Given the description of an element on the screen output the (x, y) to click on. 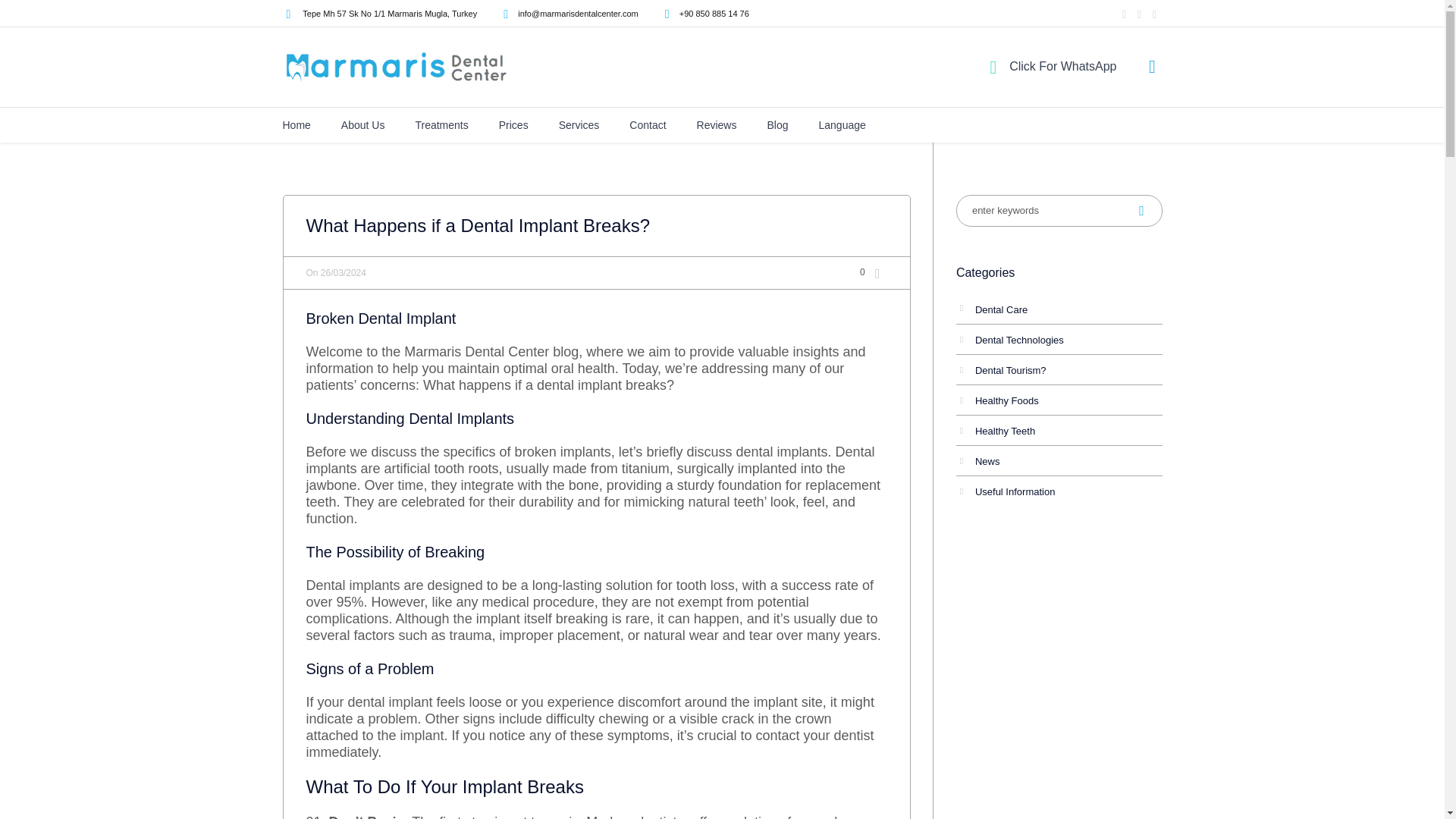
Reviews (716, 124)
About Us (362, 124)
Facebook (1124, 14)
Twitter (1139, 14)
Contact (646, 124)
Treatments (440, 124)
Services (579, 124)
Instagram (1155, 14)
Click For WhatsApp (1061, 65)
